Given the description of an element on the screen output the (x, y) to click on. 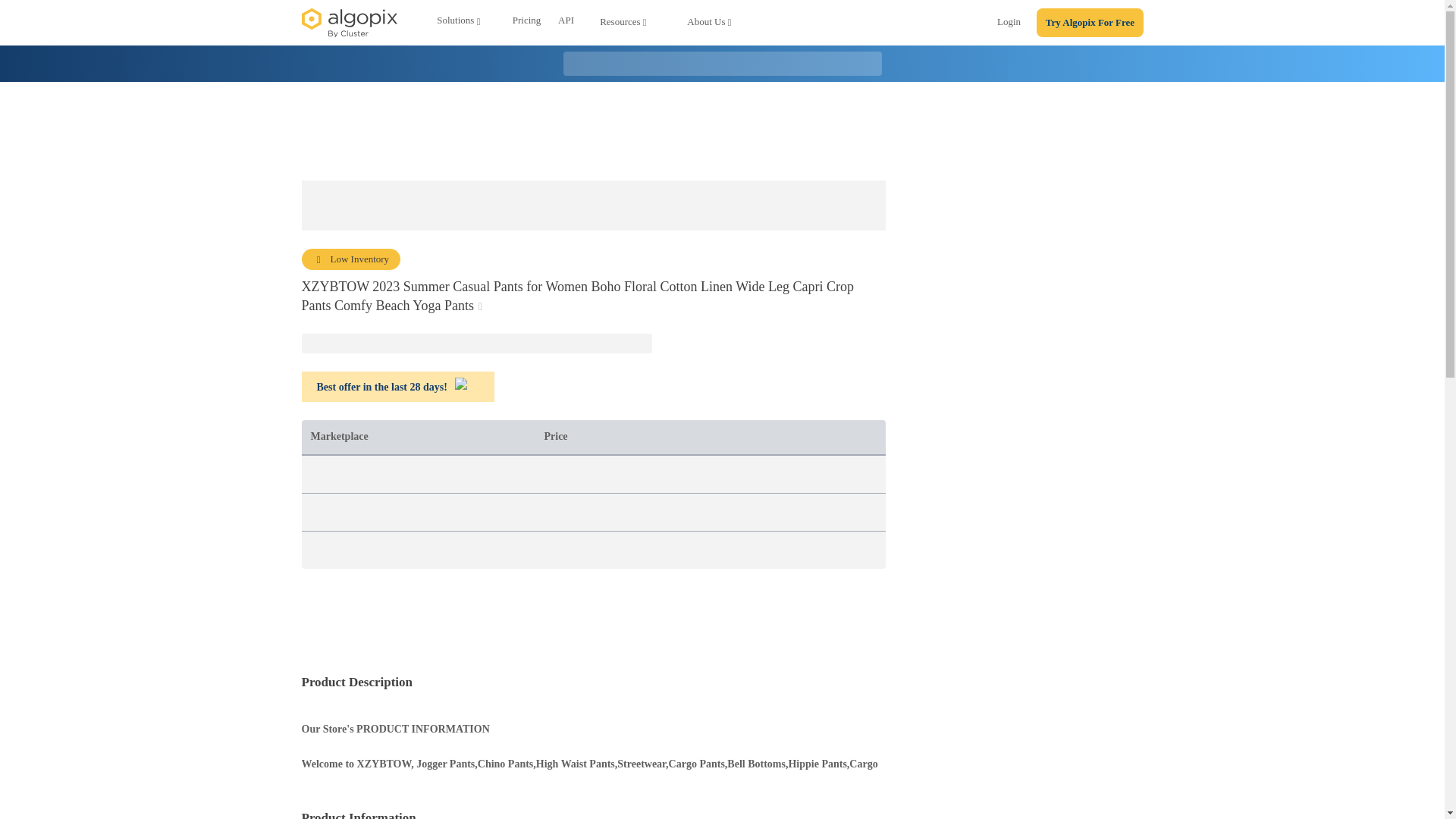
Try Algopix For Free (1089, 22)
Pricing (525, 22)
Login (1008, 24)
API (566, 22)
